Given the description of an element on the screen output the (x, y) to click on. 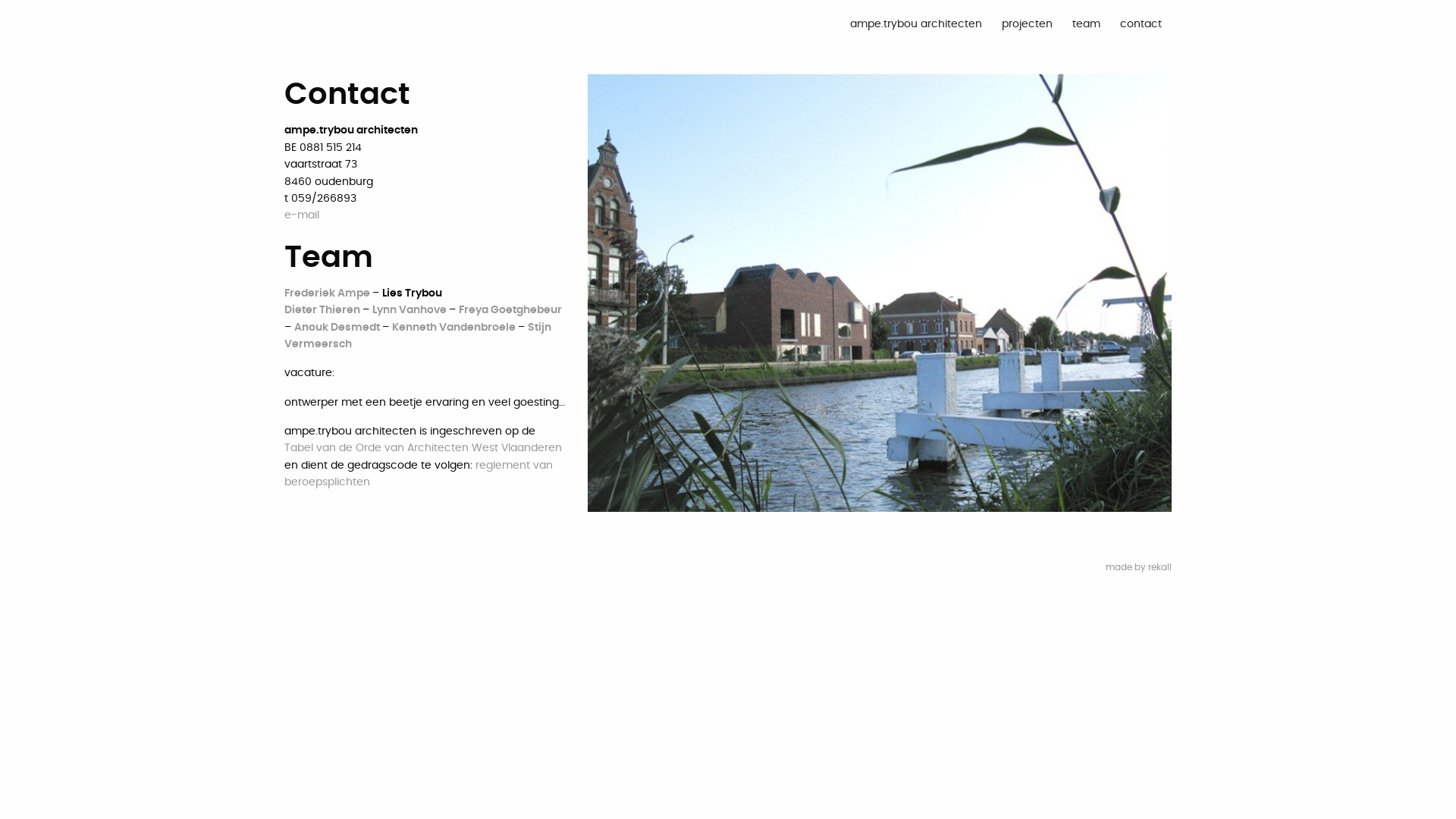
projecten Element type: text (1026, 24)
Tabel van de Orde van Architecten West Vlaanderen Element type: text (422, 447)
Freya Goetghebeur Element type: text (509, 309)
contact Element type: text (1140, 24)
Stijn Vermeersch Element type: text (417, 335)
Dieter Thieren Element type: text (323, 309)
team Element type: text (1086, 24)
ampe.trybou architecten Element type: text (915, 24)
Kenneth Vandenbroele Element type: text (454, 327)
Lynn Vanhove Element type: text (410, 309)
Frederiek Ampe Element type: text (328, 293)
e-mail Element type: text (301, 215)
Anouk Desmedt Element type: text (338, 327)
made by rekall Element type: text (1138, 566)
reglement van beroepsplichten Element type: text (418, 473)
